Given the description of an element on the screen output the (x, y) to click on. 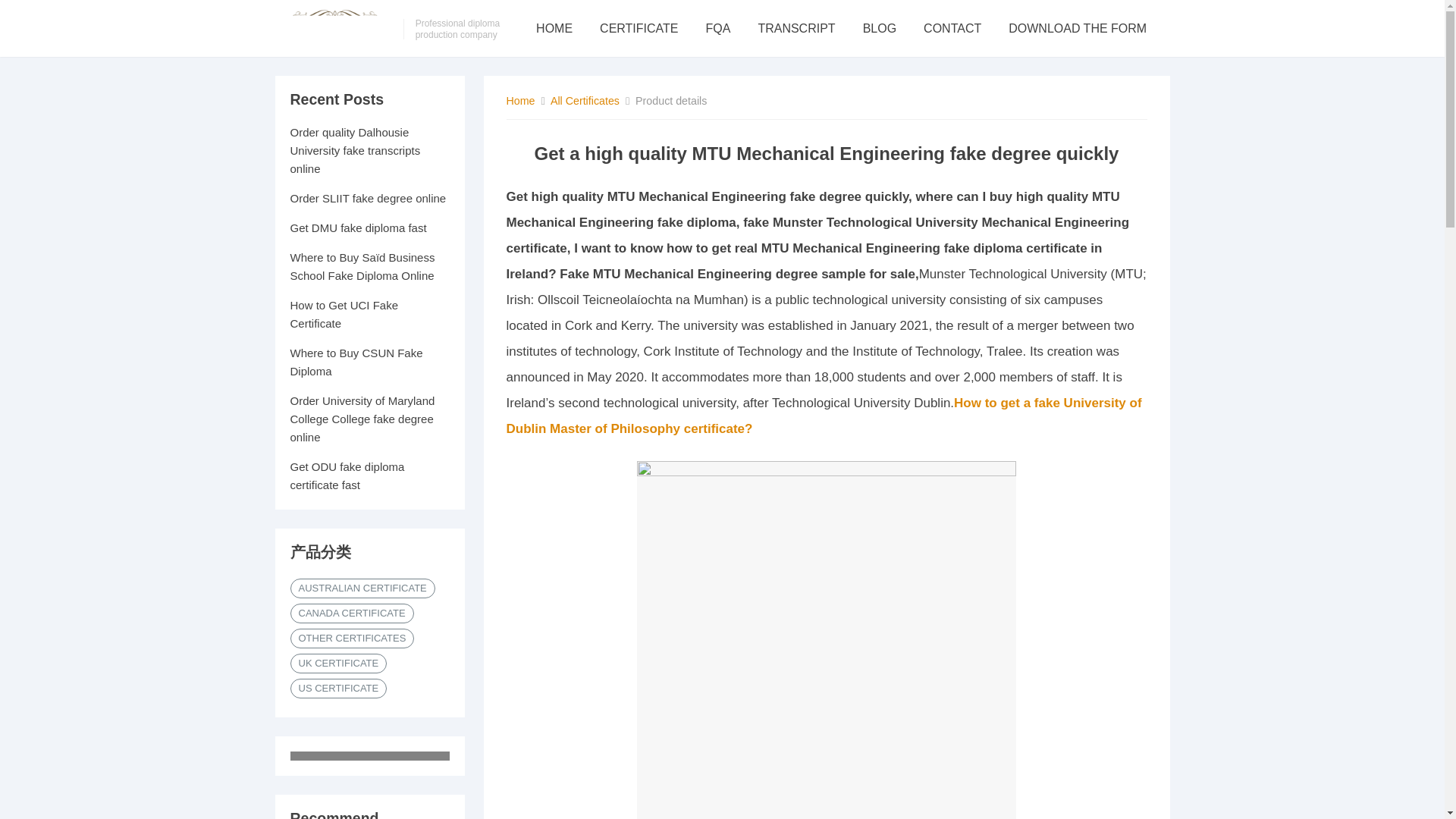
Home (520, 101)
Where to Buy CSUN Fake Diploma (355, 361)
Order SLIIT fake degree online (367, 197)
OTHER CERTIFICATES (351, 638)
Order quality Dalhousie University fake transcripts online (354, 150)
Get DMU fake diploma fast (357, 227)
All Certificates (585, 101)
CONTACT (952, 28)
UK CERTIFICATE (338, 663)
How to Get UCI Fake Certificate (343, 314)
TRANSCRIPT (795, 28)
CANADA CERTIFICATE (351, 613)
